Given the description of an element on the screen output the (x, y) to click on. 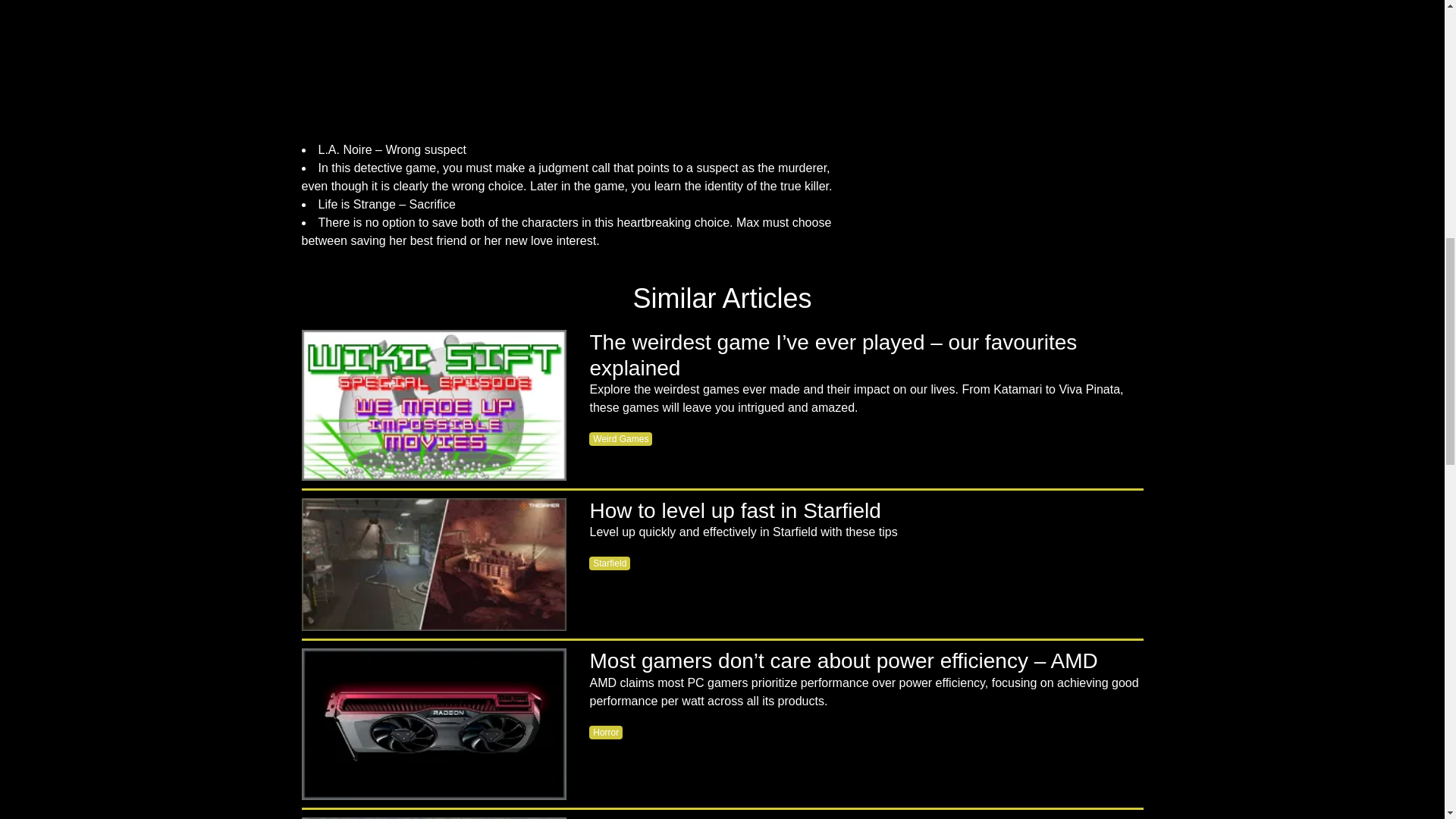
How to level up fast in Starfield (434, 564)
Weird Games (620, 438)
Starfield (609, 563)
YouTube video player (578, 66)
Horror (606, 732)
